Given the description of an element on the screen output the (x, y) to click on. 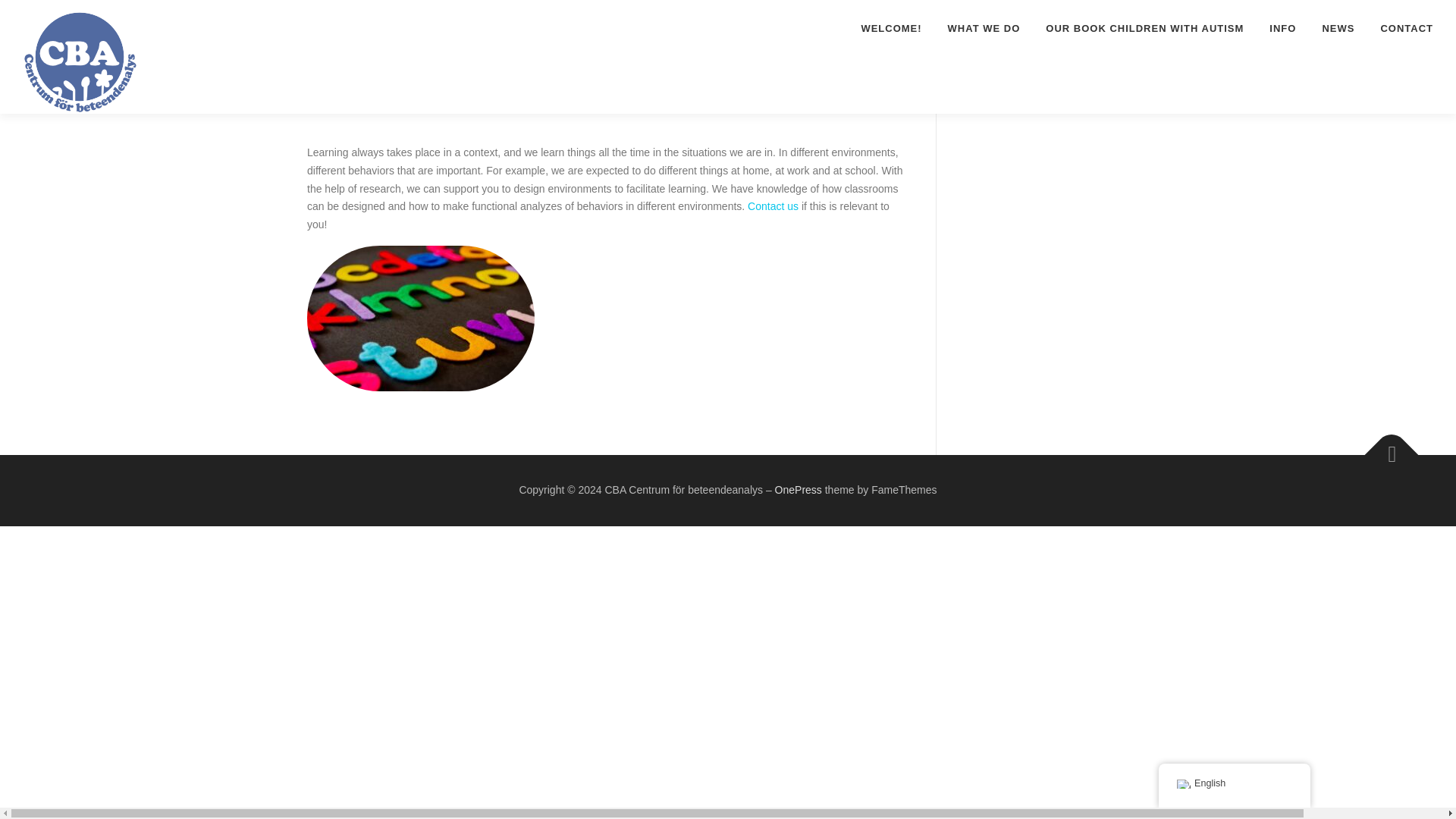
Back To Top (1384, 447)
OnePress (798, 490)
Contact us (775, 205)
WELCOME! (890, 28)
OUR BOOK CHILDREN WITH AUTISM (1144, 28)
INFO (1282, 28)
NEWS (1337, 28)
English (1183, 783)
WHAT WE DO (983, 28)
CONTACT (1399, 28)
English (1234, 783)
